Given the description of an element on the screen output the (x, y) to click on. 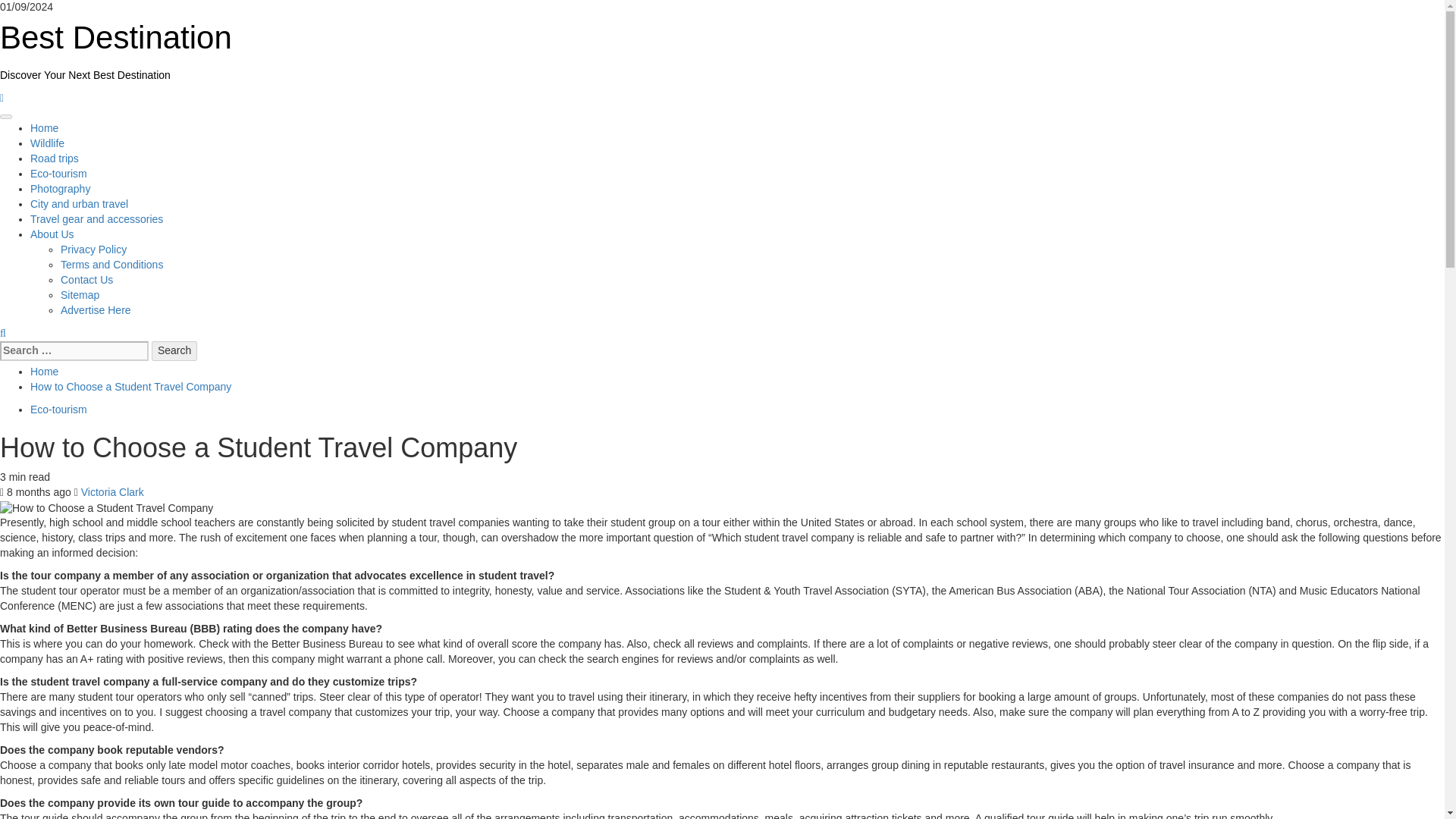
Photography (60, 188)
Sitemap (80, 295)
How to Choose a Student Travel Company (106, 507)
Road trips (54, 158)
City and urban travel (79, 203)
Travel gear and accessories (96, 218)
Best Destination (115, 37)
Wildlife (47, 143)
Search (173, 351)
Privacy Policy (93, 249)
